Given the description of an element on the screen output the (x, y) to click on. 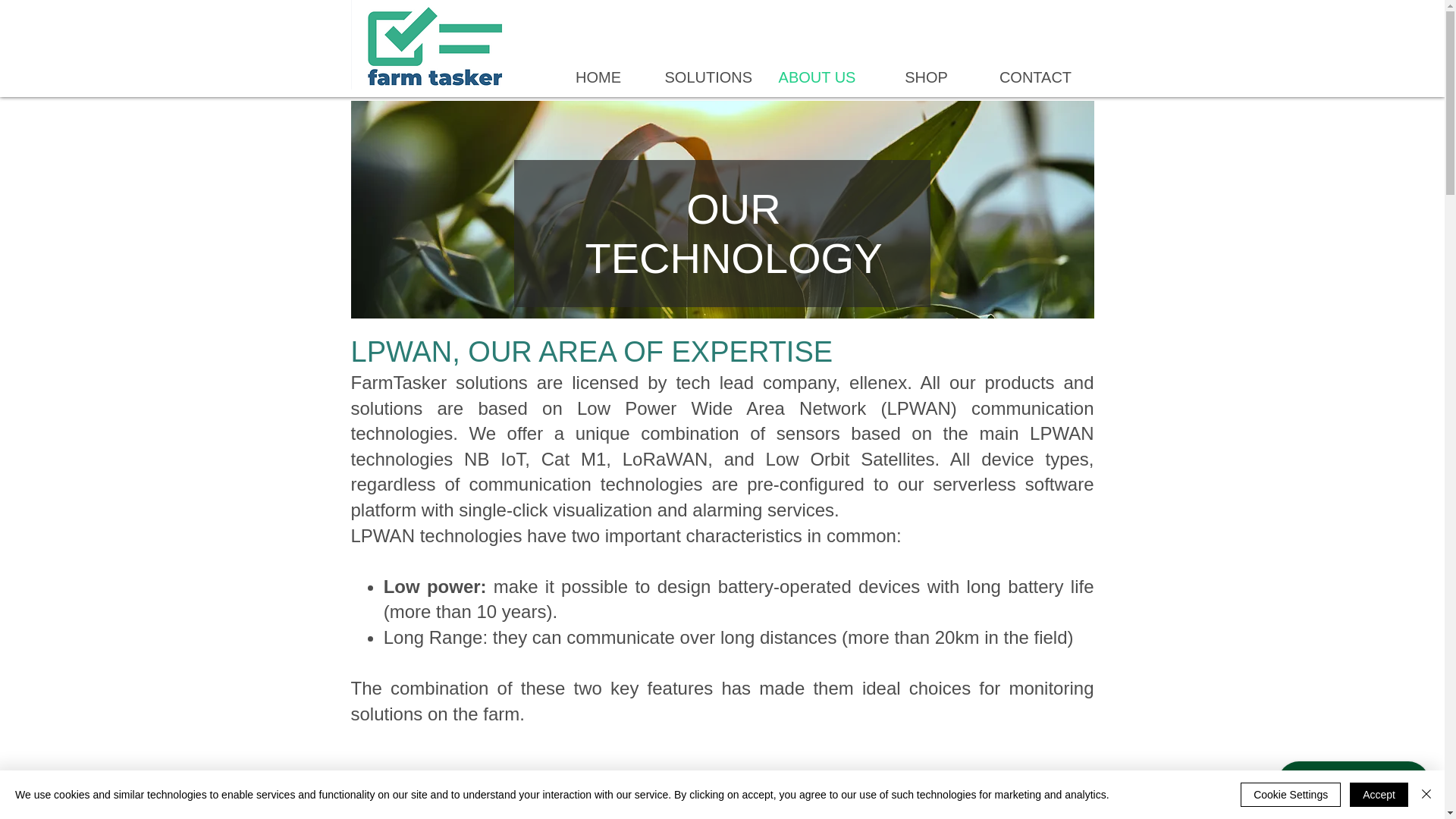
SHOP (926, 75)
Accept (1378, 794)
SOLUTIONS (707, 75)
ABOUT US (817, 75)
CONTACT (1035, 75)
HOME (597, 75)
